Given the description of an element on the screen output the (x, y) to click on. 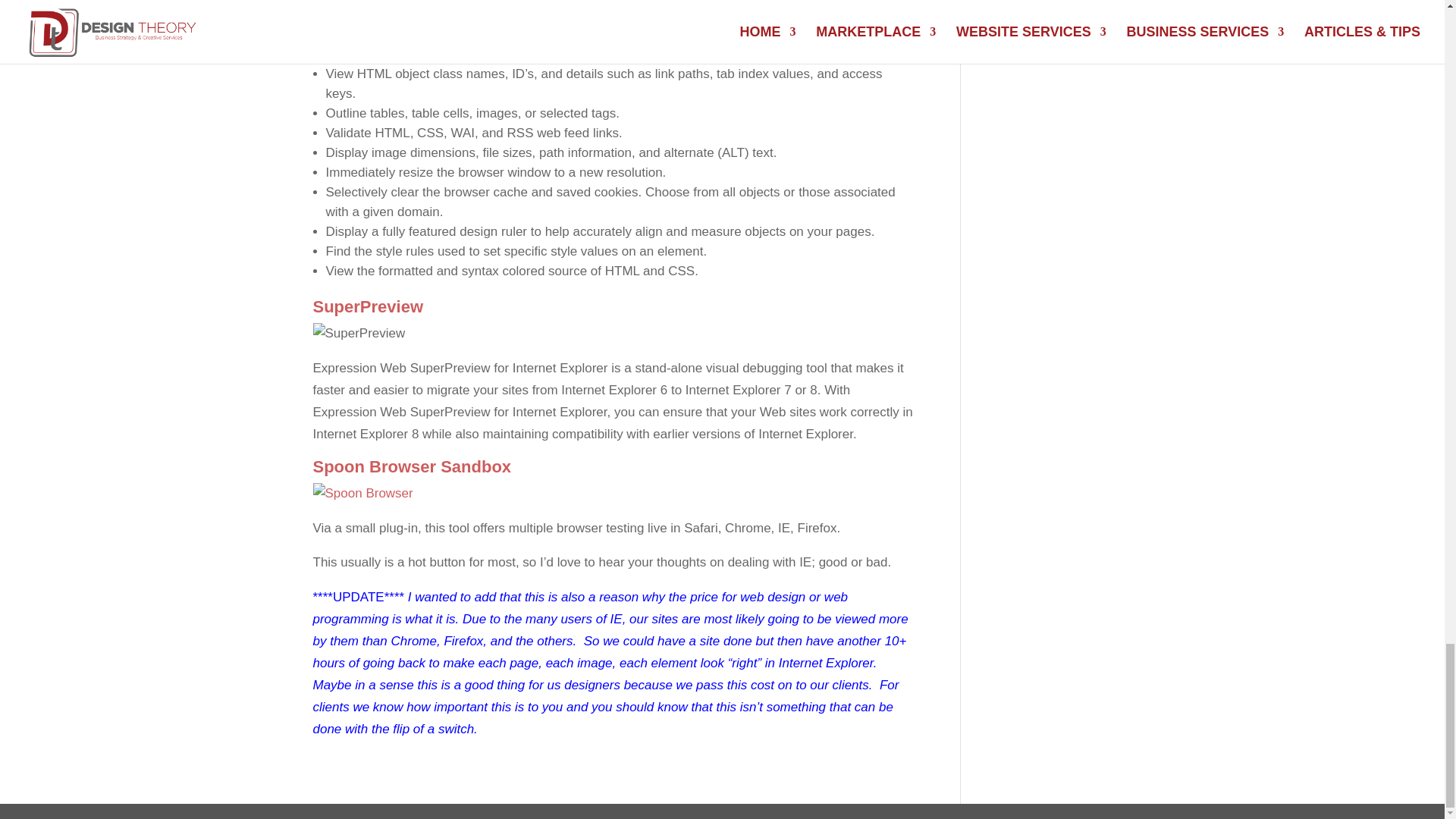
SuperPreview (368, 306)
Spoon Browser Sandbox (412, 466)
Spoon Browser (362, 494)
SuperPreview (358, 333)
